Given the description of an element on the screen output the (x, y) to click on. 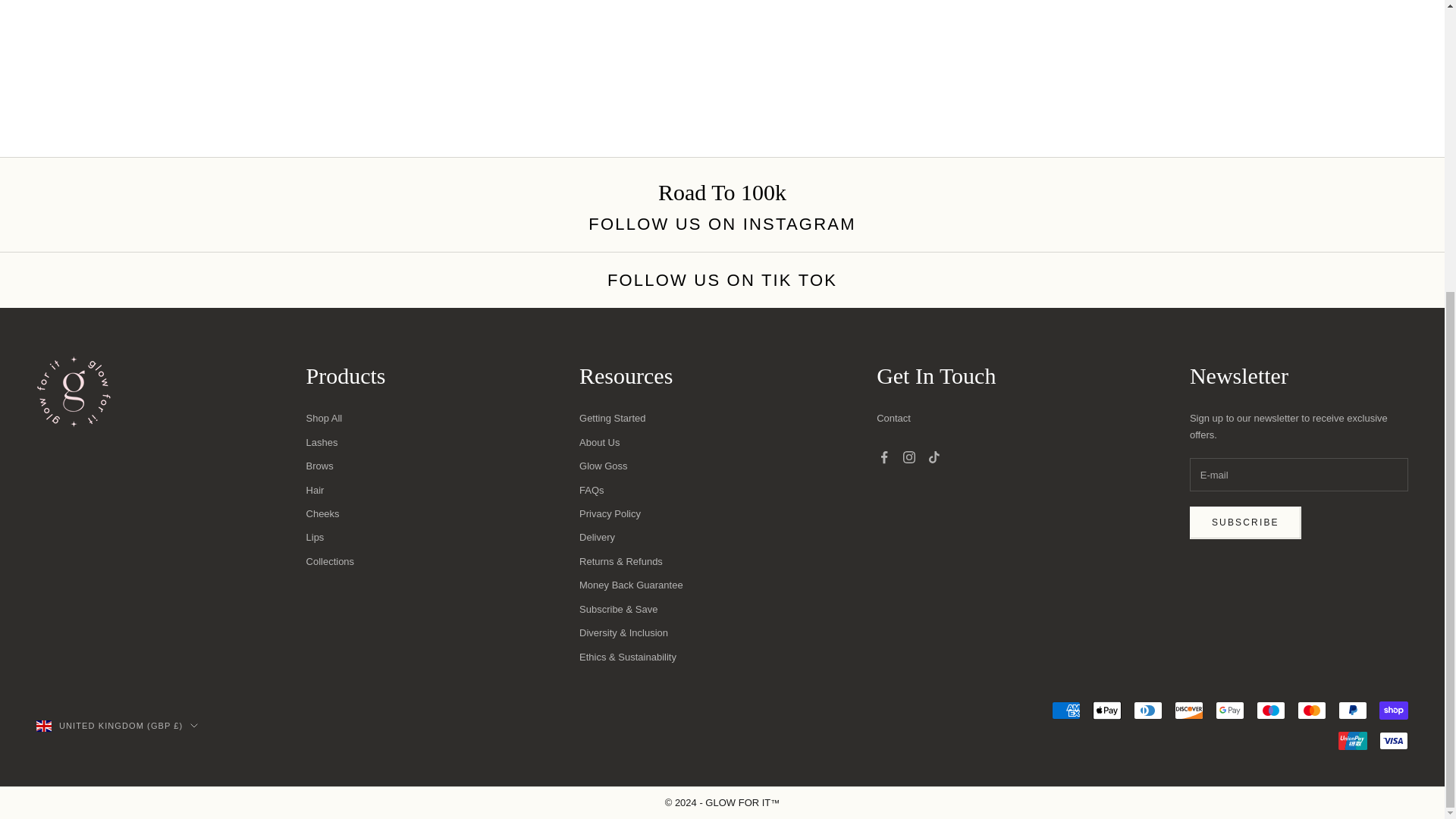
Glow Goss (603, 465)
Lips (314, 536)
Brows (319, 465)
Getting Started (612, 418)
Contact (893, 418)
Lashes (321, 441)
Collections (330, 561)
Cheeks (322, 513)
SUBSCRIBE (1245, 522)
About Us (599, 441)
Shop All (323, 418)
Delivery (596, 536)
Privacy Policy (609, 513)
FAQs (591, 490)
Hair (314, 490)
